Given the description of an element on the screen output the (x, y) to click on. 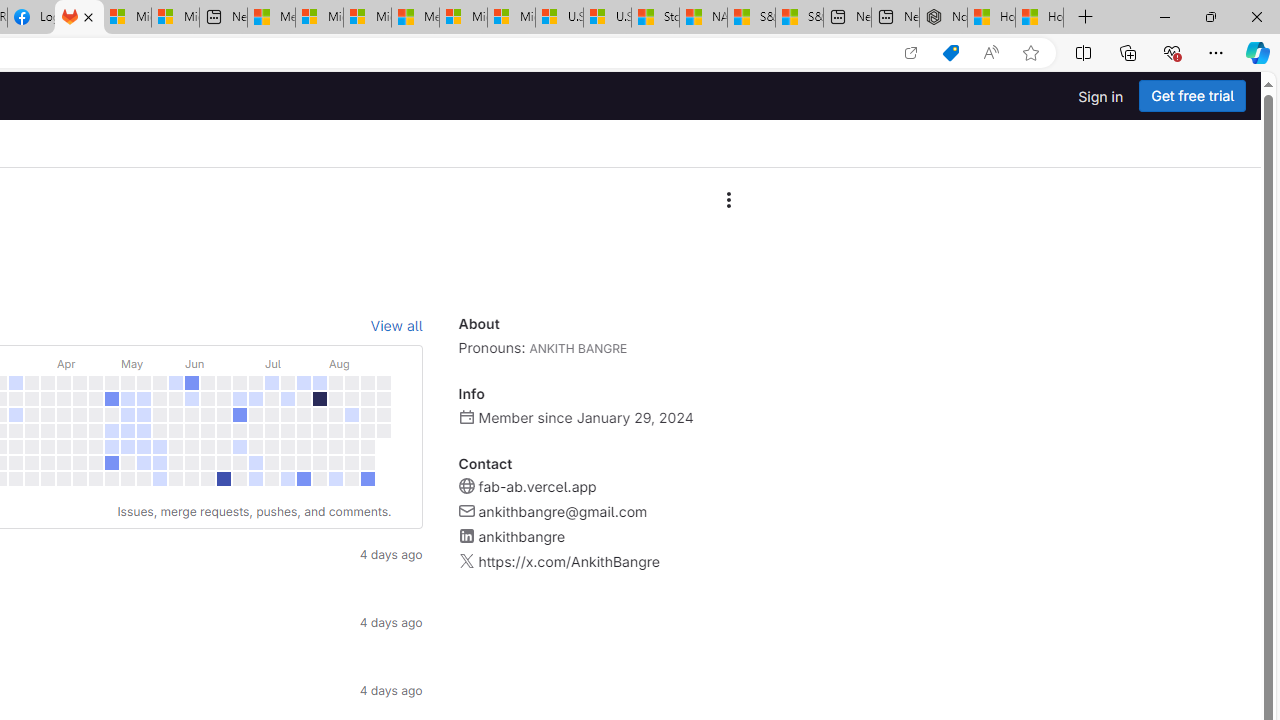
Class: s16 gl-fill-icon-subtle gl-mt-1 flex-shrink-0 (466, 561)
